Given the description of an element on the screen output the (x, y) to click on. 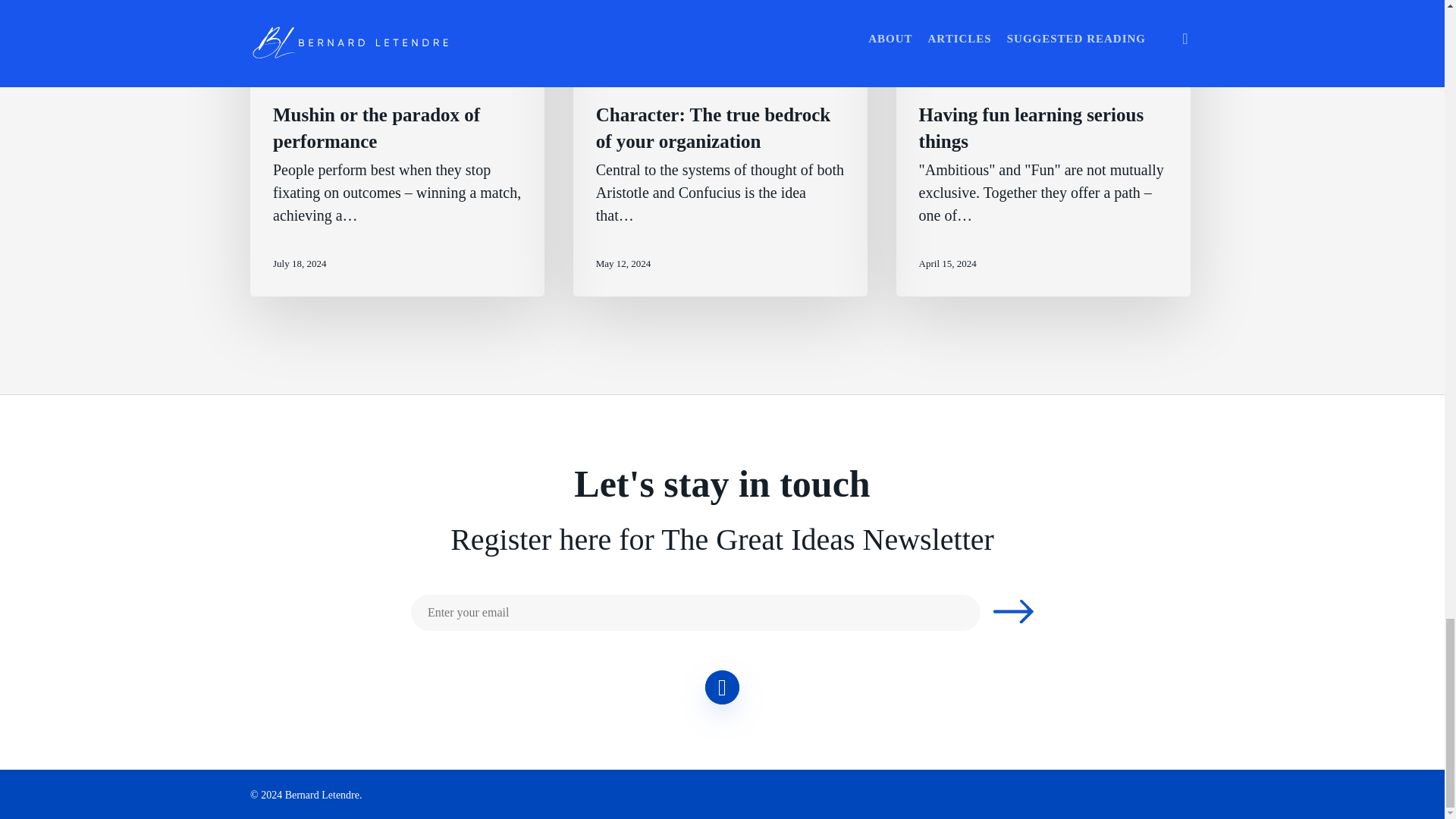
Corporate culture (372, 79)
Leadership (298, 79)
Culture of judo (457, 79)
Corporate culture (636, 79)
